Given the description of an element on the screen output the (x, y) to click on. 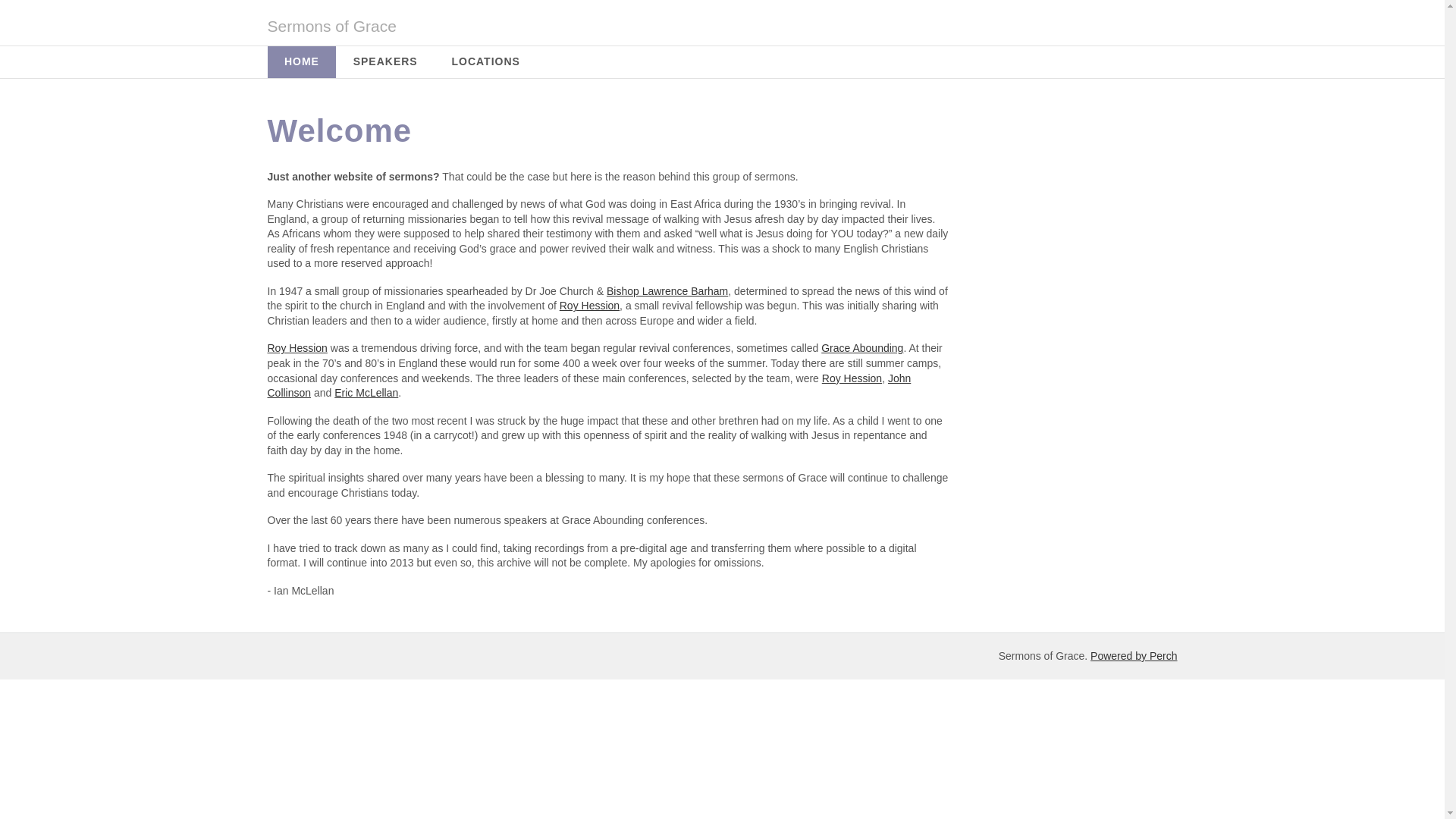
Roy Hession (852, 378)
Grace Abounding (861, 347)
John Collinson (588, 385)
SPEAKERS (384, 61)
Roy Hession (589, 305)
Roy Hession (296, 347)
Eric McLellan (365, 392)
Bishop Lawrence Barham (667, 291)
LOCATIONS (485, 61)
HOME (301, 61)
Powered by Perch (1133, 655)
